Given the description of an element on the screen output the (x, y) to click on. 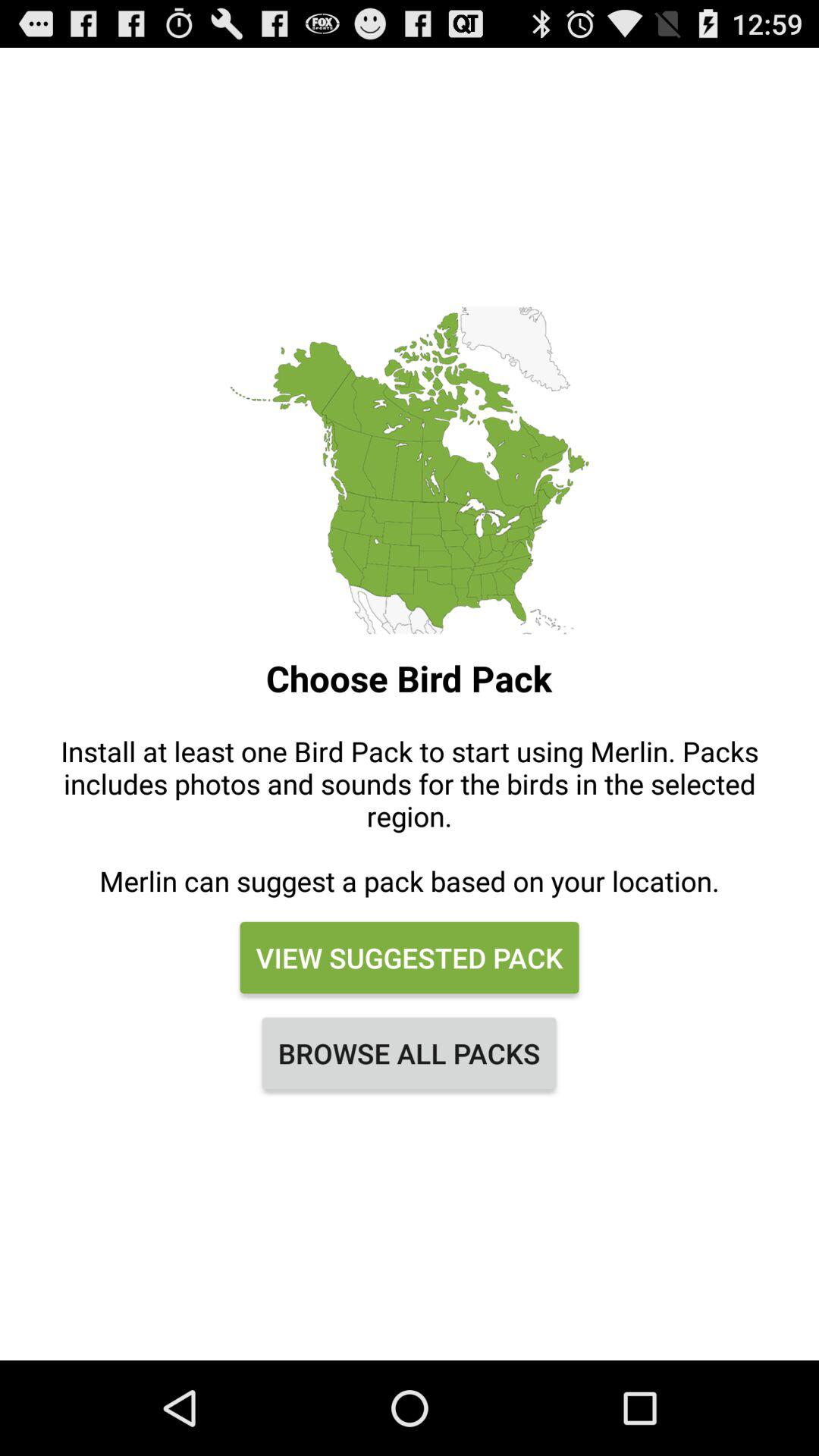
swipe until browse all packs icon (409, 1053)
